Given the description of an element on the screen output the (x, y) to click on. 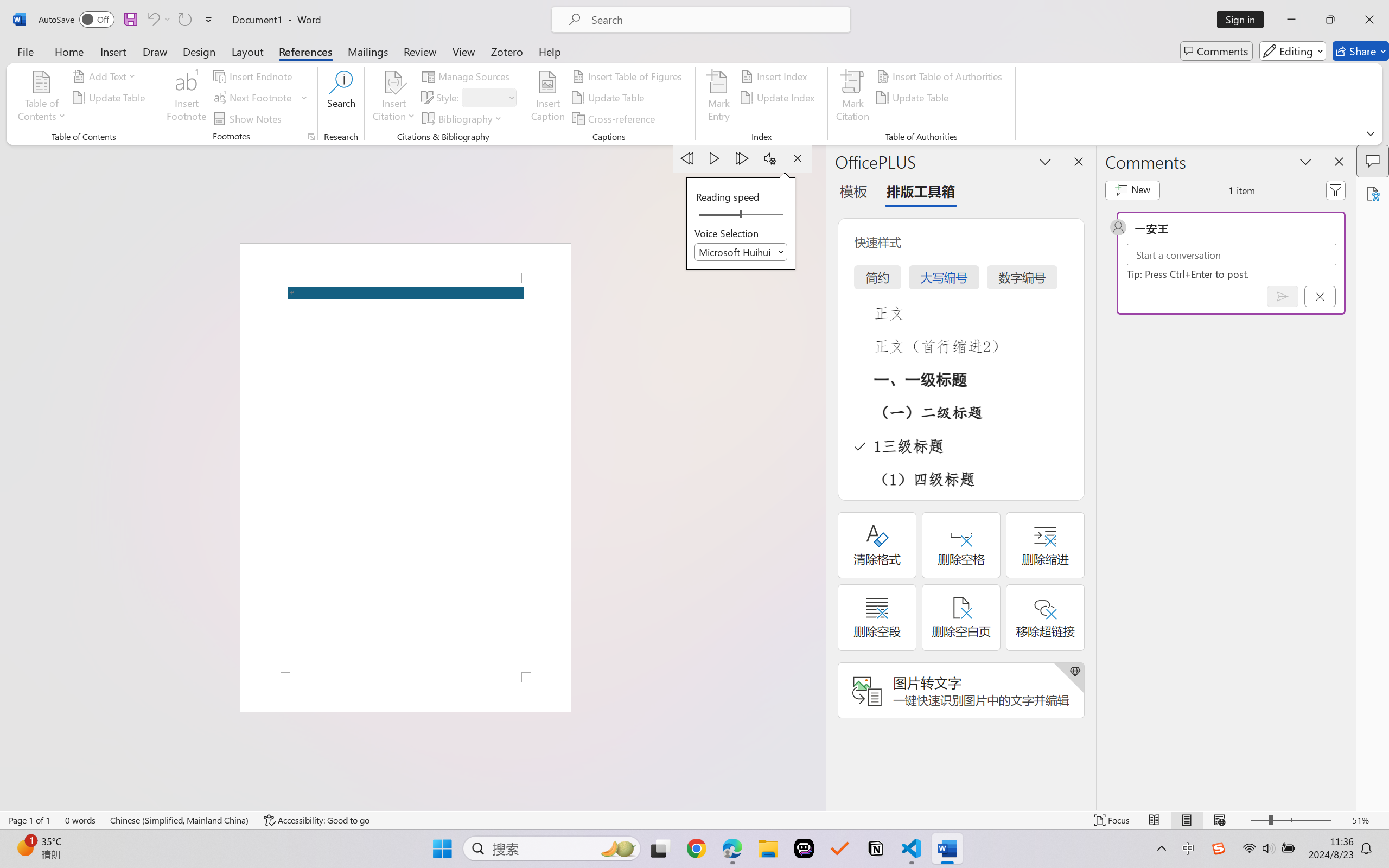
Language Chinese (Simplified, Mainland China) (179, 819)
Undo Apply Quick Style Set (152, 19)
Start a conversation (1231, 254)
Style (488, 97)
Editing (1292, 50)
Settings (770, 158)
Next Footnote (260, 97)
Insert Footnote (186, 97)
Insert Endnote (253, 75)
